Given the description of an element on the screen output the (x, y) to click on. 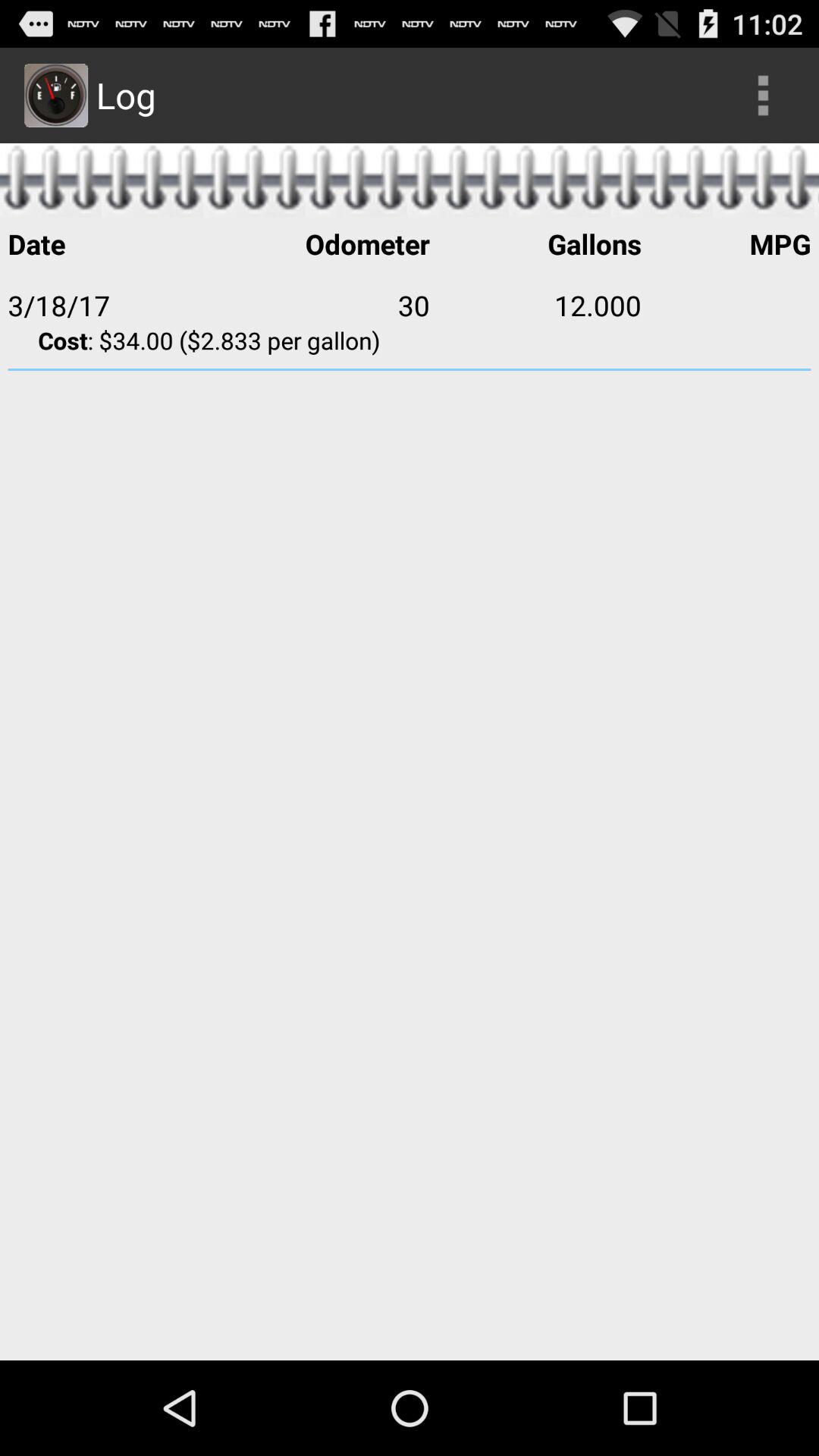
go to menu (763, 95)
